Given the description of an element on the screen output the (x, y) to click on. 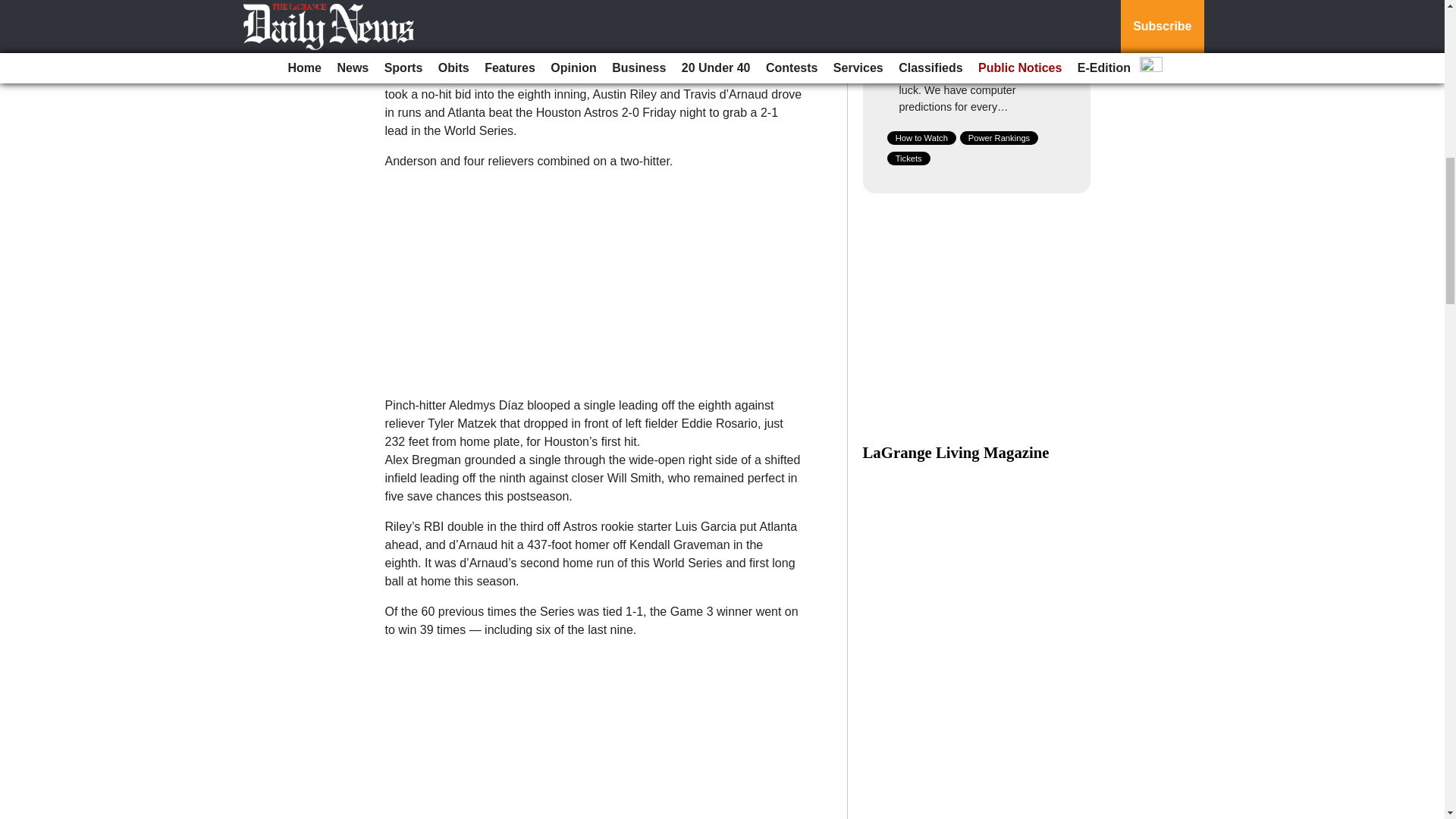
Power Rankings (999, 137)
How to Watch (921, 137)
WNBA Betting Picks: Sunday, September 1 (978, 30)
